Given the description of an element on the screen output the (x, y) to click on. 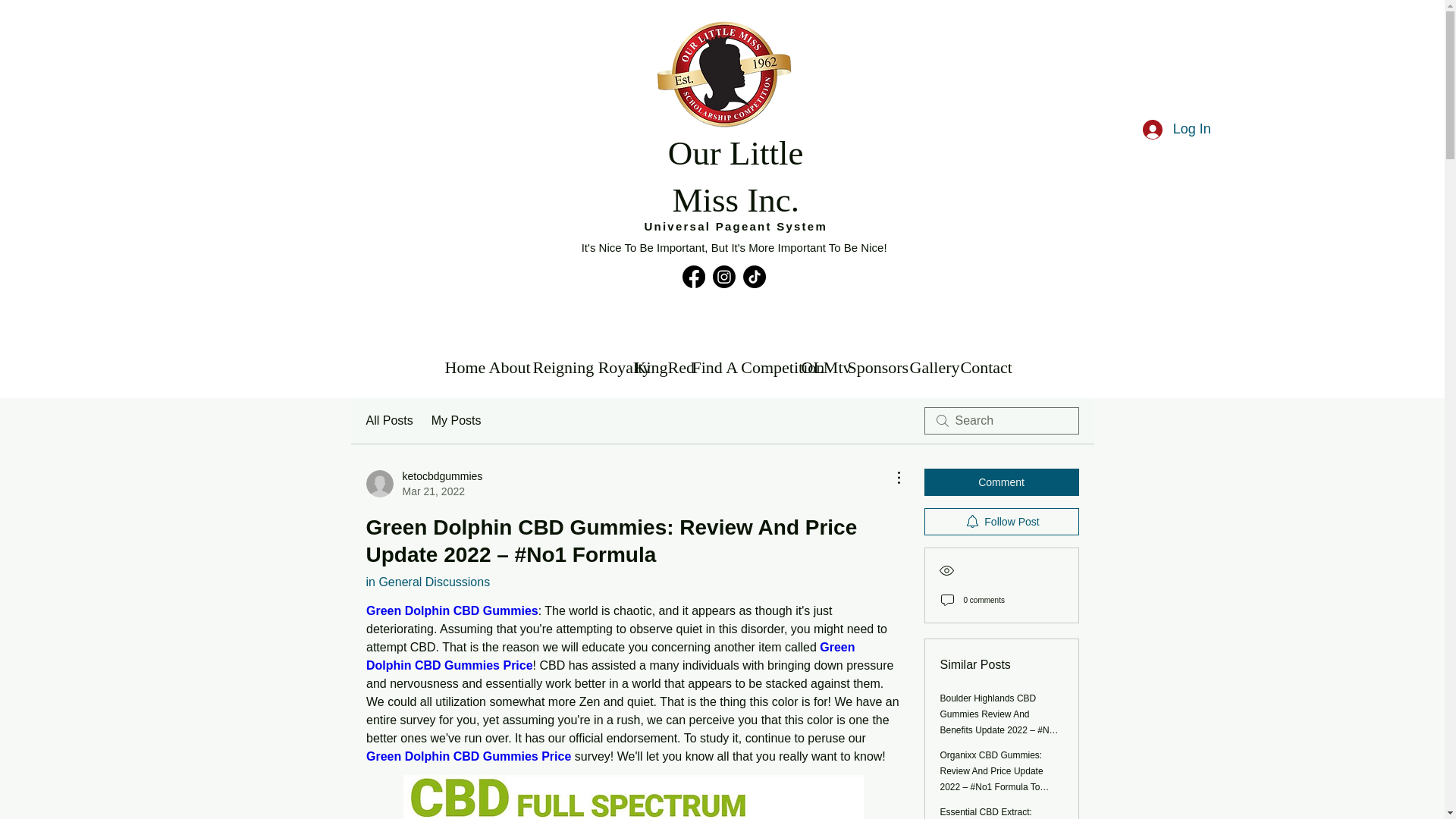
Log In (1176, 129)
Green Dolphin CBD Gummies (451, 610)
Sponsors (871, 367)
OLMtv (816, 367)
Reigning Royalty (423, 483)
Green Dolphin CBD Gummies Price (575, 367)
Green Dolphin CBD Gummies Price (467, 756)
Contact (611, 655)
Home (979, 367)
Find A Competition (458, 367)
Gallery (738, 367)
My Posts (927, 367)
All Posts (455, 420)
About (388, 420)
